Given the description of an element on the screen output the (x, y) to click on. 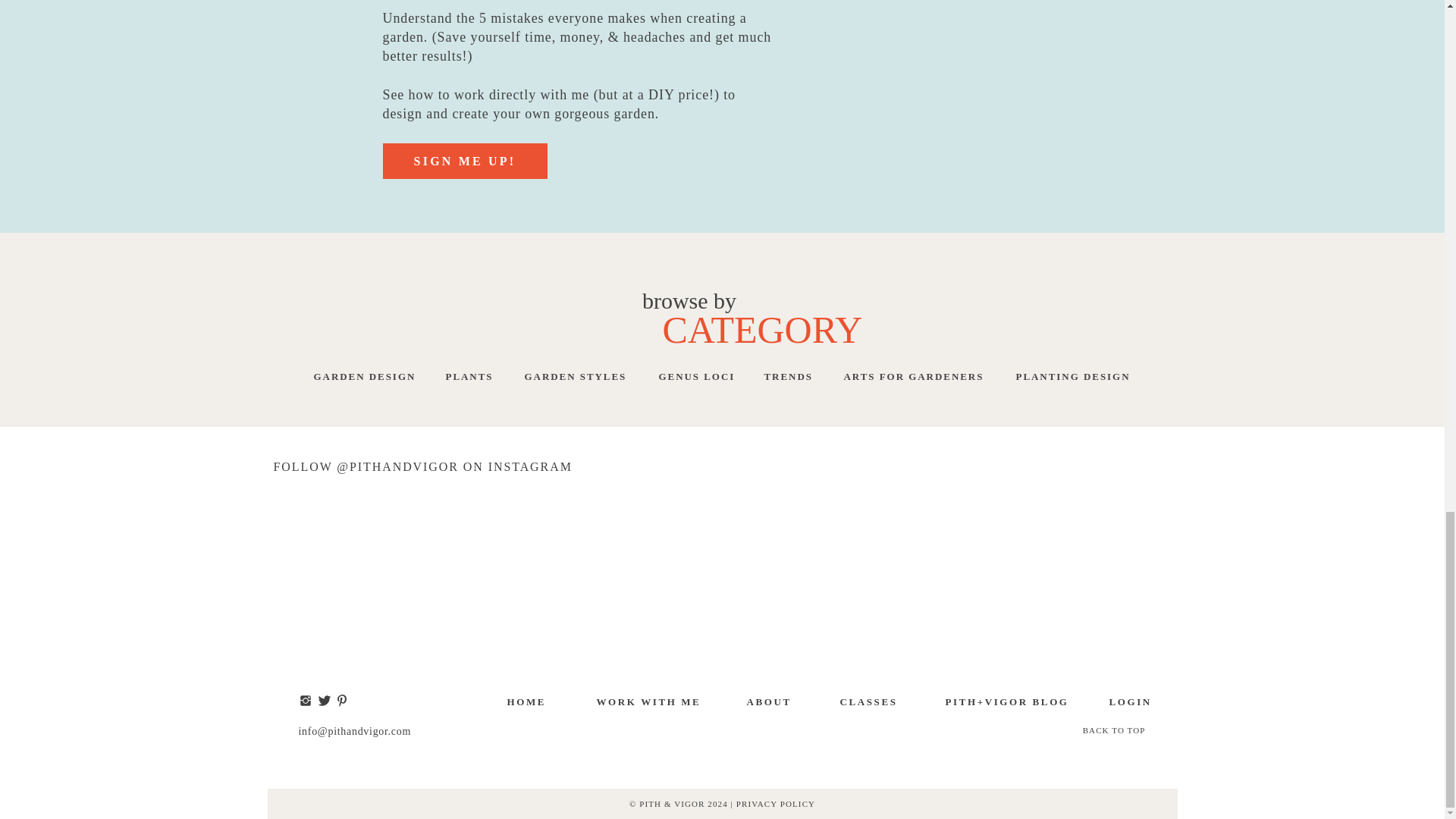
Carhartt vest (701, 761)
bright new pair (1013, 130)
Gap Jeans (372, 74)
Hycreek Work Shir (465, 40)
Ben Davis Teamsters Apron (721, 7)
